Given the description of an element on the screen output the (x, y) to click on. 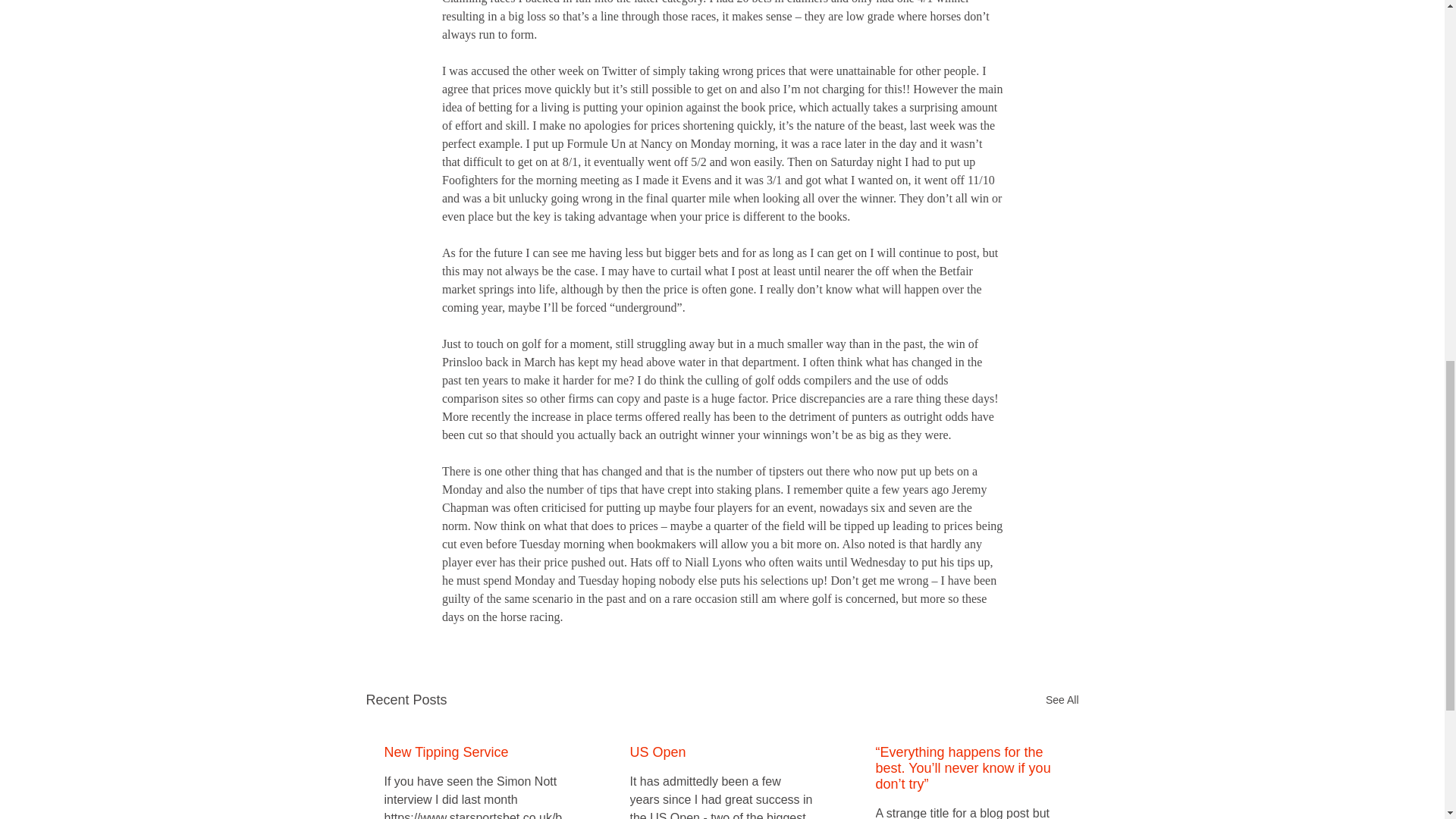
New Tipping Service (475, 752)
US Open (720, 752)
See All (1061, 700)
